Given the description of an element on the screen output the (x, y) to click on. 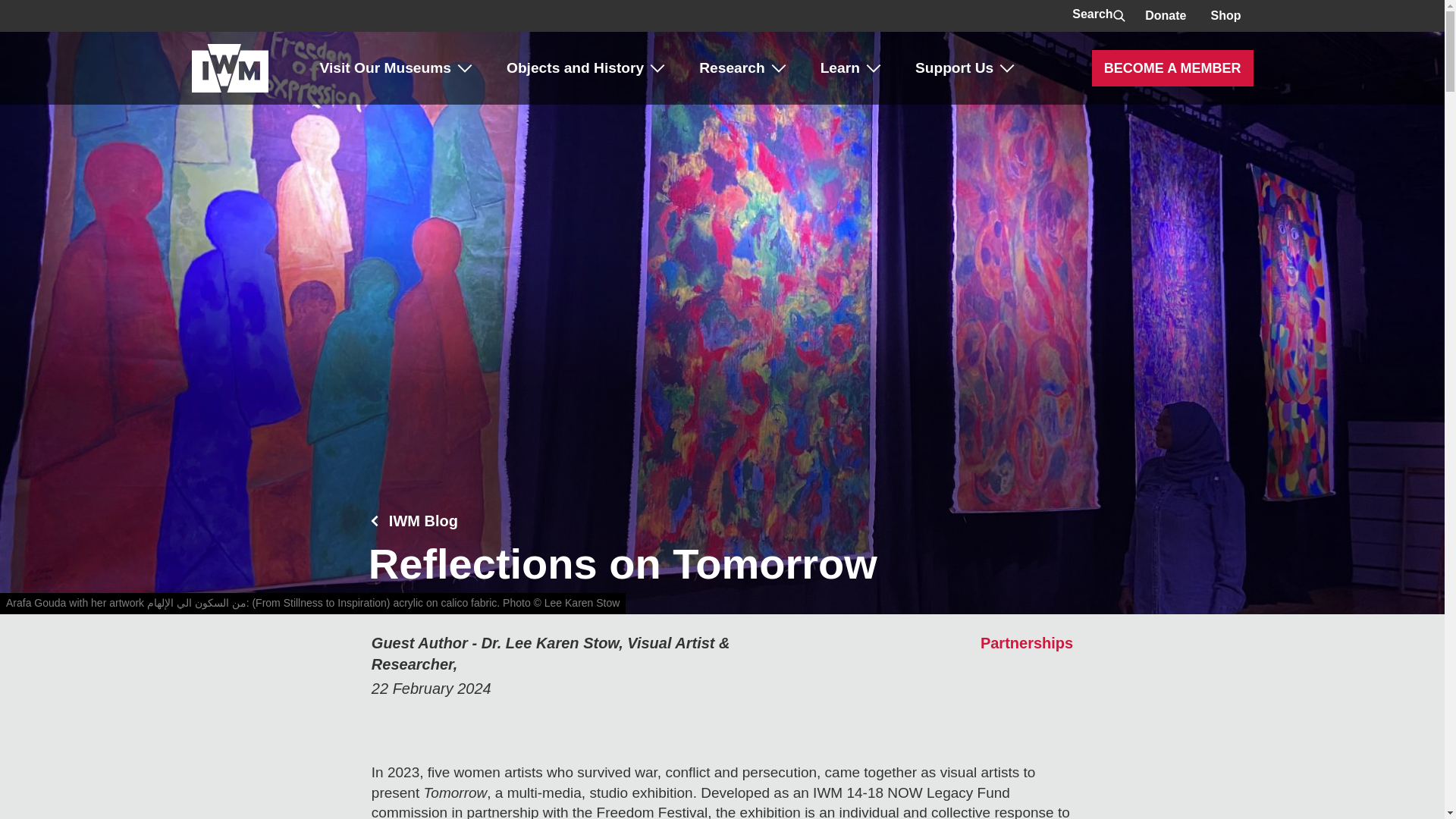
Home (228, 68)
Partnerships (1026, 642)
BECOME A MEMBER (1172, 67)
Shop (1225, 15)
Donate (1165, 15)
Search (1095, 15)
IWM Blog (423, 520)
